Given the description of an element on the screen output the (x, y) to click on. 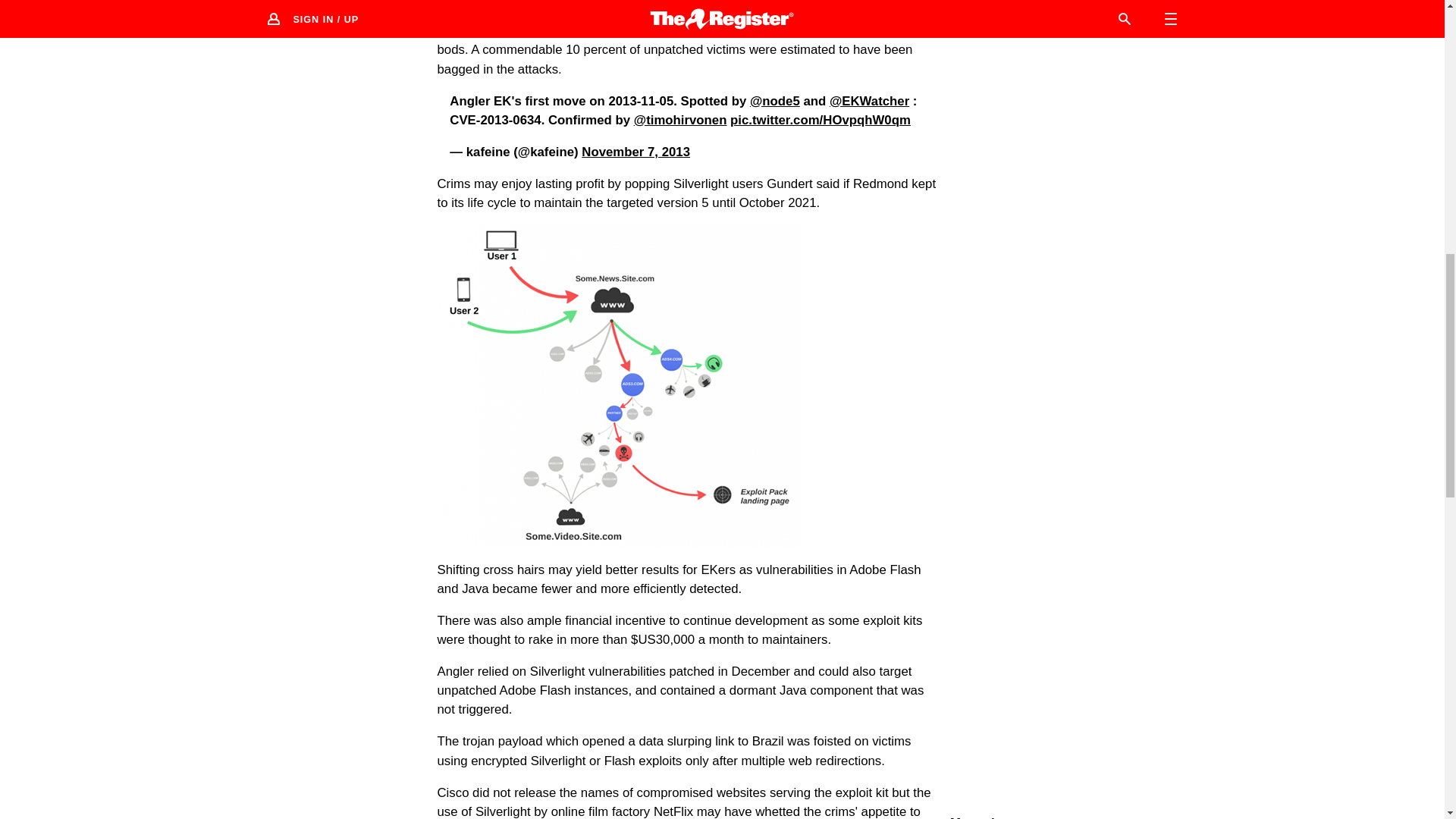
ad exchange screenshot (617, 386)
